Given the description of an element on the screen output the (x, y) to click on. 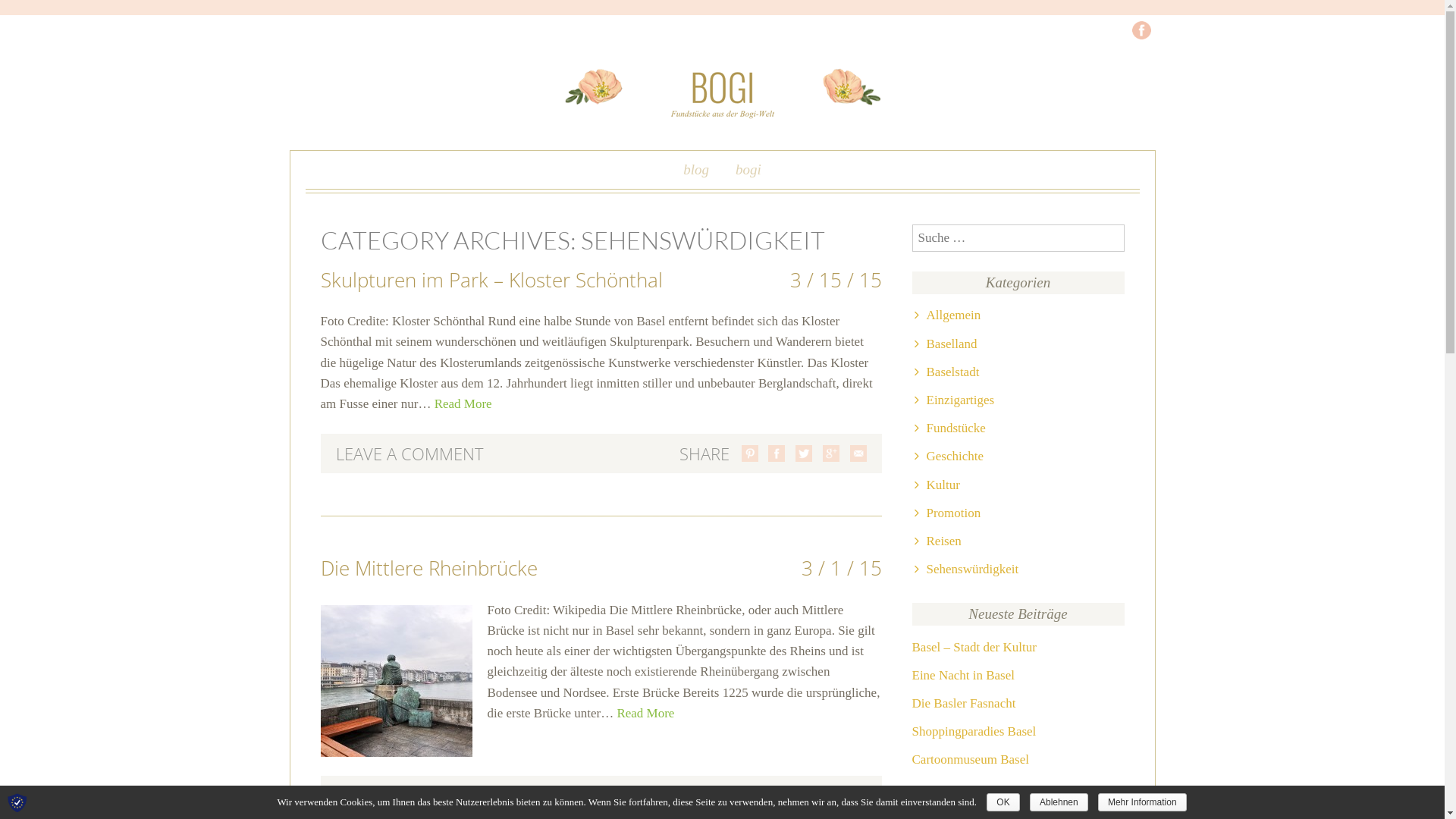
Eine Nacht in Basel Element type: text (1017, 675)
Mehr Information Element type: text (1142, 802)
bogi Element type: text (748, 172)
Allgemein Element type: text (947, 314)
Share by Email Element type: hover (857, 453)
Reisen Element type: text (937, 540)
3 / 1 / 15 Element type: text (840, 567)
Share by Email Element type: hover (857, 795)
Read More Element type: text (463, 403)
Ablehnen Element type: text (1058, 802)
LEAVE A COMMENT Element type: text (409, 453)
Cartoonmuseum Basel Element type: text (1017, 759)
Shoppingparadies Basel Element type: text (1017, 731)
Promotion Element type: text (947, 512)
Suche Element type: text (40, 14)
3 / 15 / 15 Element type: text (835, 279)
skip to content Element type: text (357, 172)
blog Element type: text (695, 172)
Die Basler Fasnacht Element type: text (1017, 703)
Geschichte Element type: text (949, 455)
Einzigartiges Element type: text (954, 399)
Baselland Element type: text (945, 343)
LEAVE A COMMENT Element type: text (409, 795)
Baselstadt Element type: text (946, 371)
OK Element type: text (1002, 802)
Kultur Element type: text (937, 484)
Read More Element type: text (645, 713)
